Given the description of an element on the screen output the (x, y) to click on. 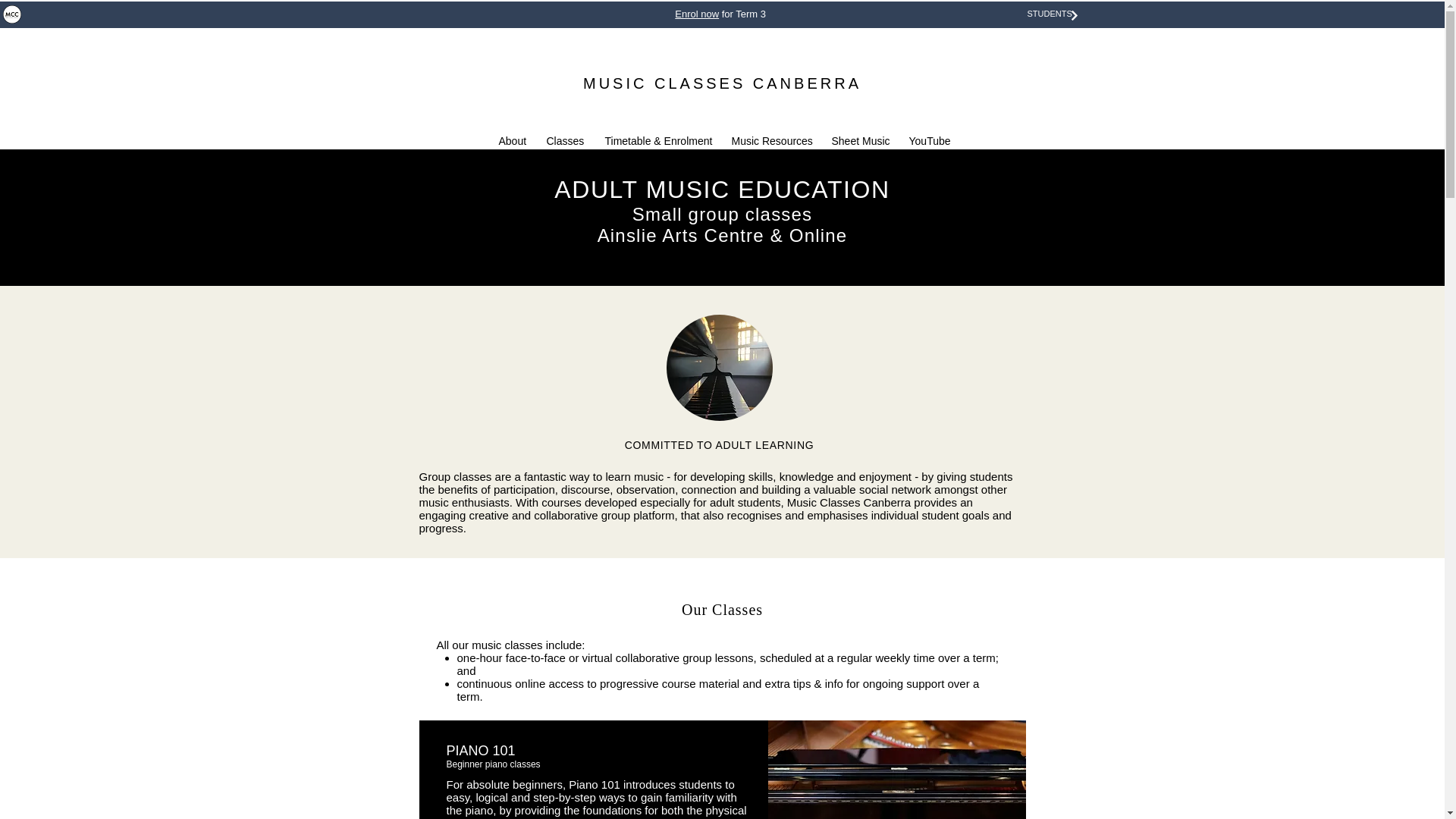
STUDENTS (1048, 13)
Sheet Music (859, 141)
Enrol now (697, 13)
YouTube (928, 141)
Our Classes (721, 609)
MUSIC CLASSES CANBERRA (722, 83)
Music Resources (770, 141)
Classes (564, 141)
About (510, 141)
